Given the description of an element on the screen output the (x, y) to click on. 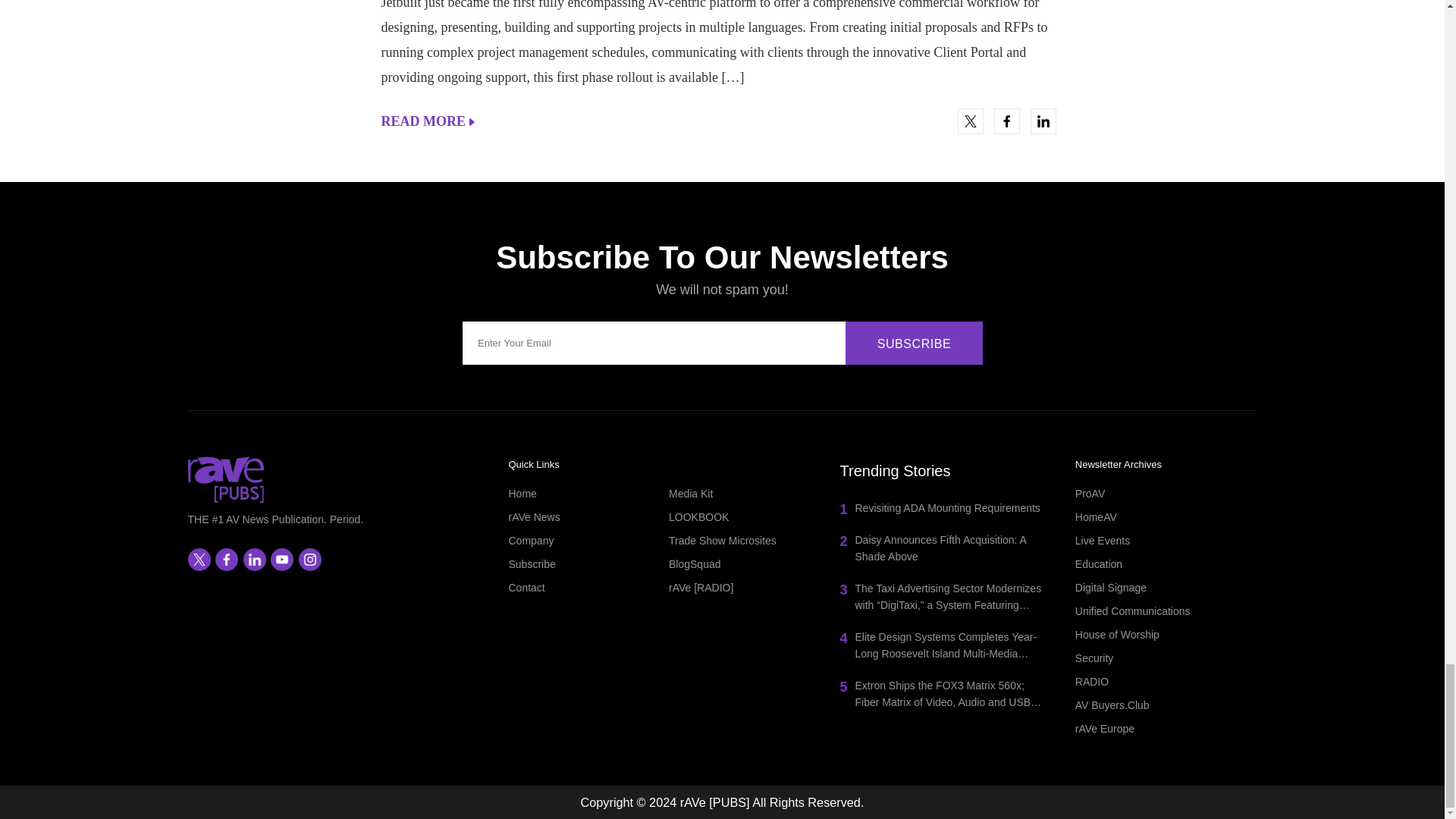
Subscribe (913, 342)
